Given the description of an element on the screen output the (x, y) to click on. 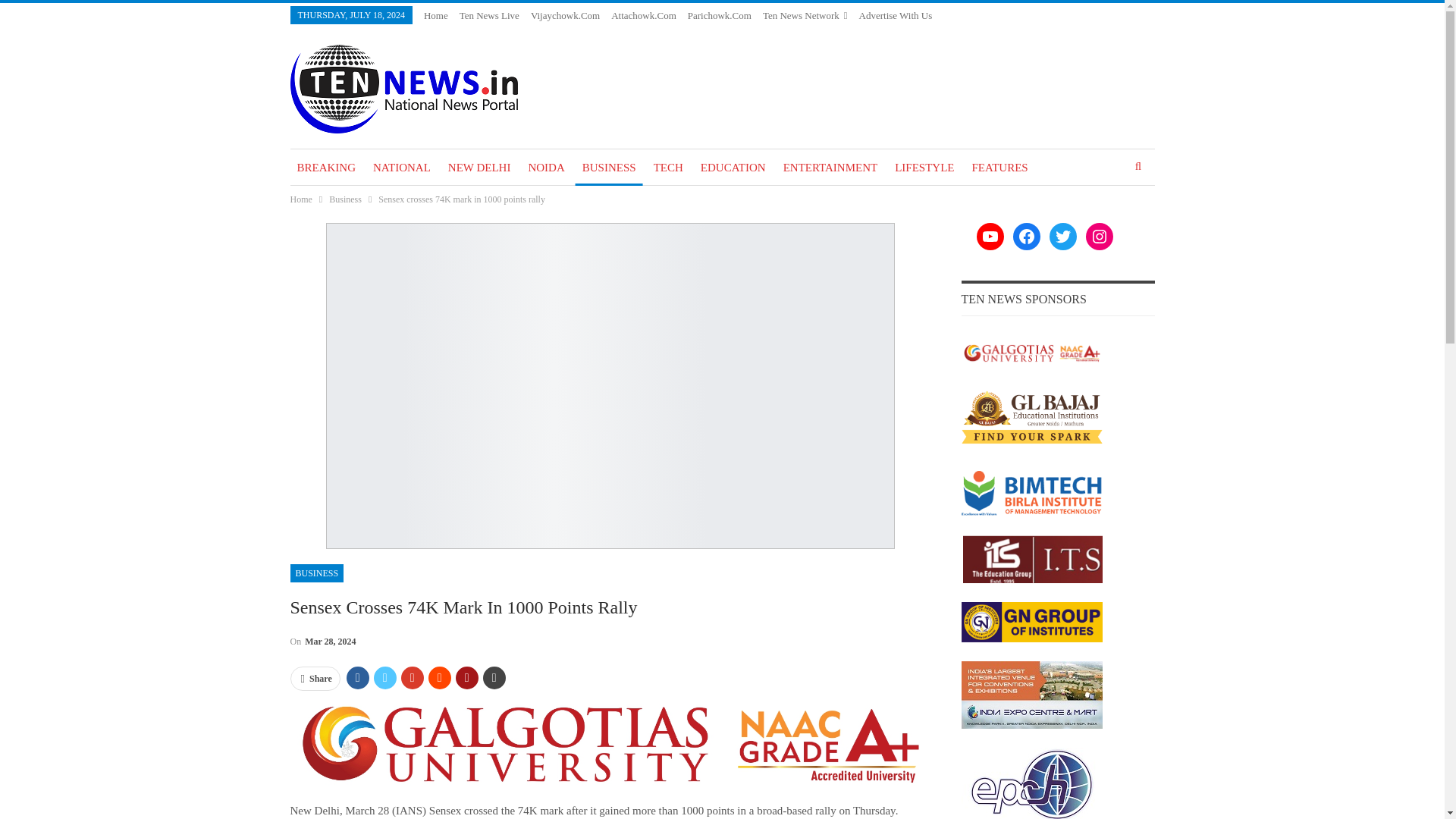
Vijaychowk.Com (565, 15)
Careers (929, 34)
NEW DELHI (479, 167)
Home (435, 15)
FEATURES (1000, 167)
TECH (668, 167)
NOIDA (545, 167)
Business (345, 199)
NATIONAL (402, 167)
Advertise With Us (896, 15)
EDUCATION (733, 167)
LIFESTYLE (924, 167)
Attachowk.Com (644, 15)
Parichowk.Com (719, 15)
Home (300, 199)
